Given the description of an element on the screen output the (x, y) to click on. 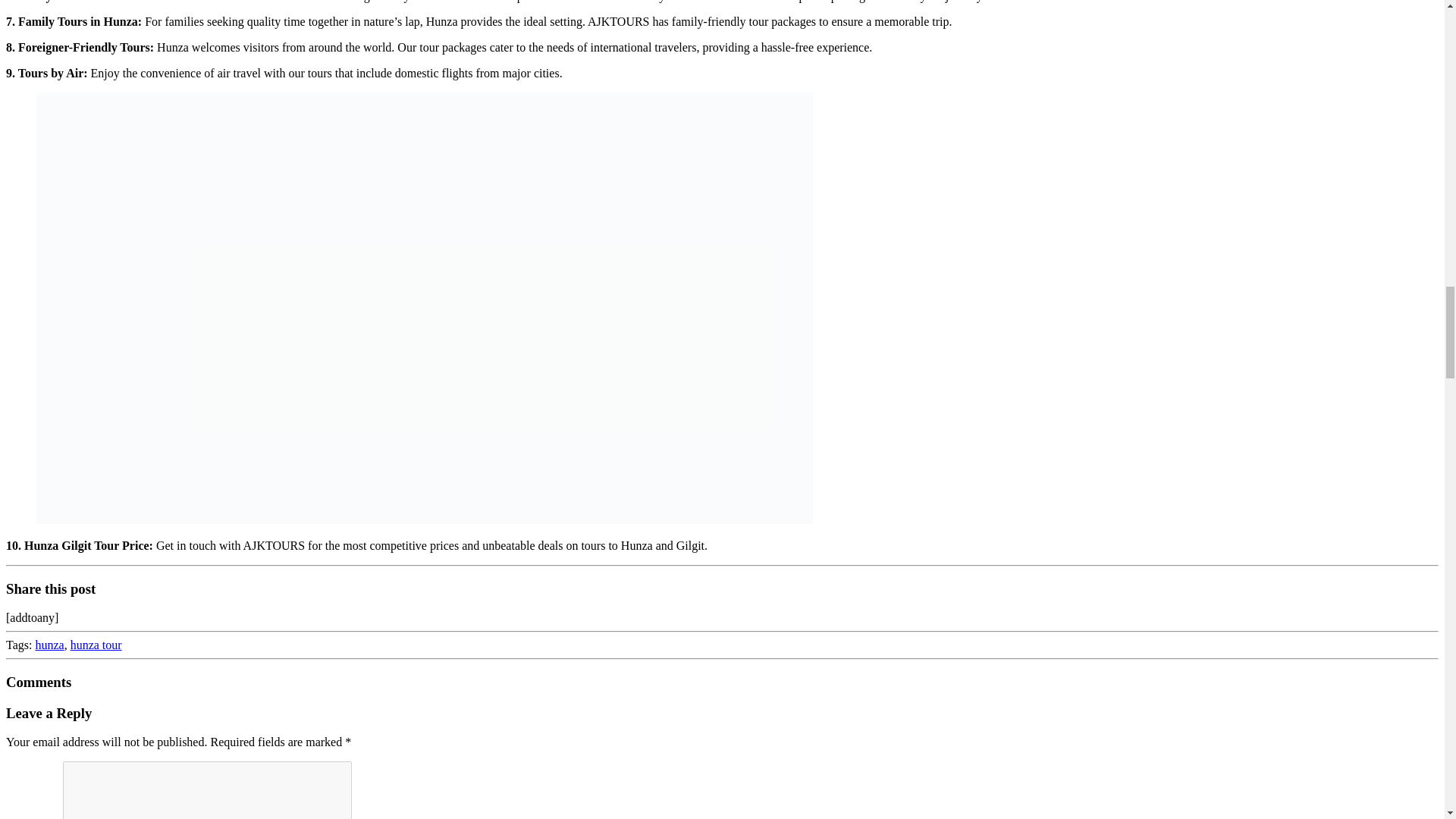
hunza tour (95, 644)
hunza (49, 644)
